Given the description of an element on the screen output the (x, y) to click on. 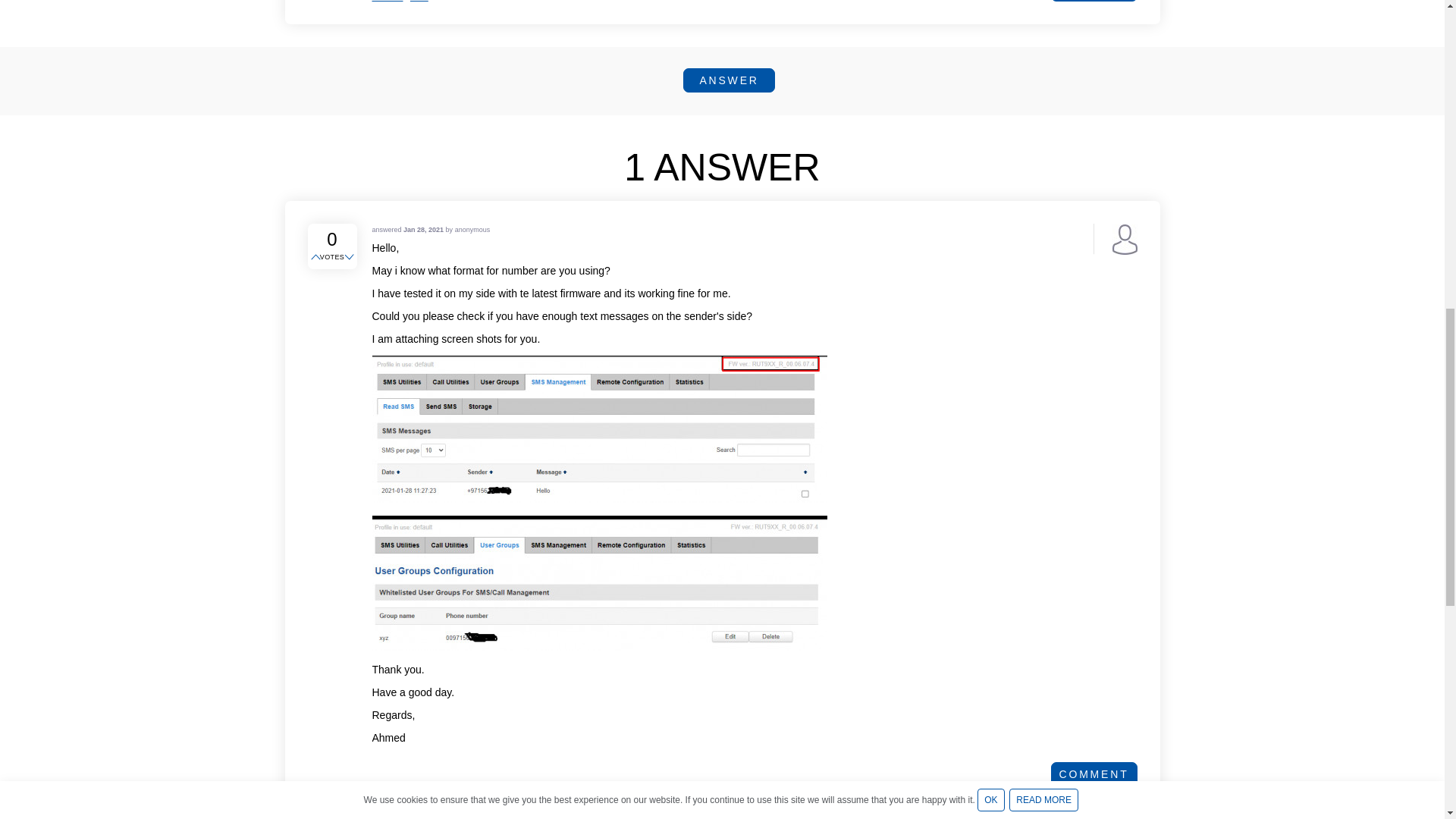
Click to vote up (317, 257)
Add a comment on this question (1094, 0)
comment (1094, 0)
Answer this question (728, 79)
comment (1094, 774)
answer (728, 79)
Click to vote down (349, 257)
Add a comment on this answer (1094, 774)
